Given the description of an element on the screen output the (x, y) to click on. 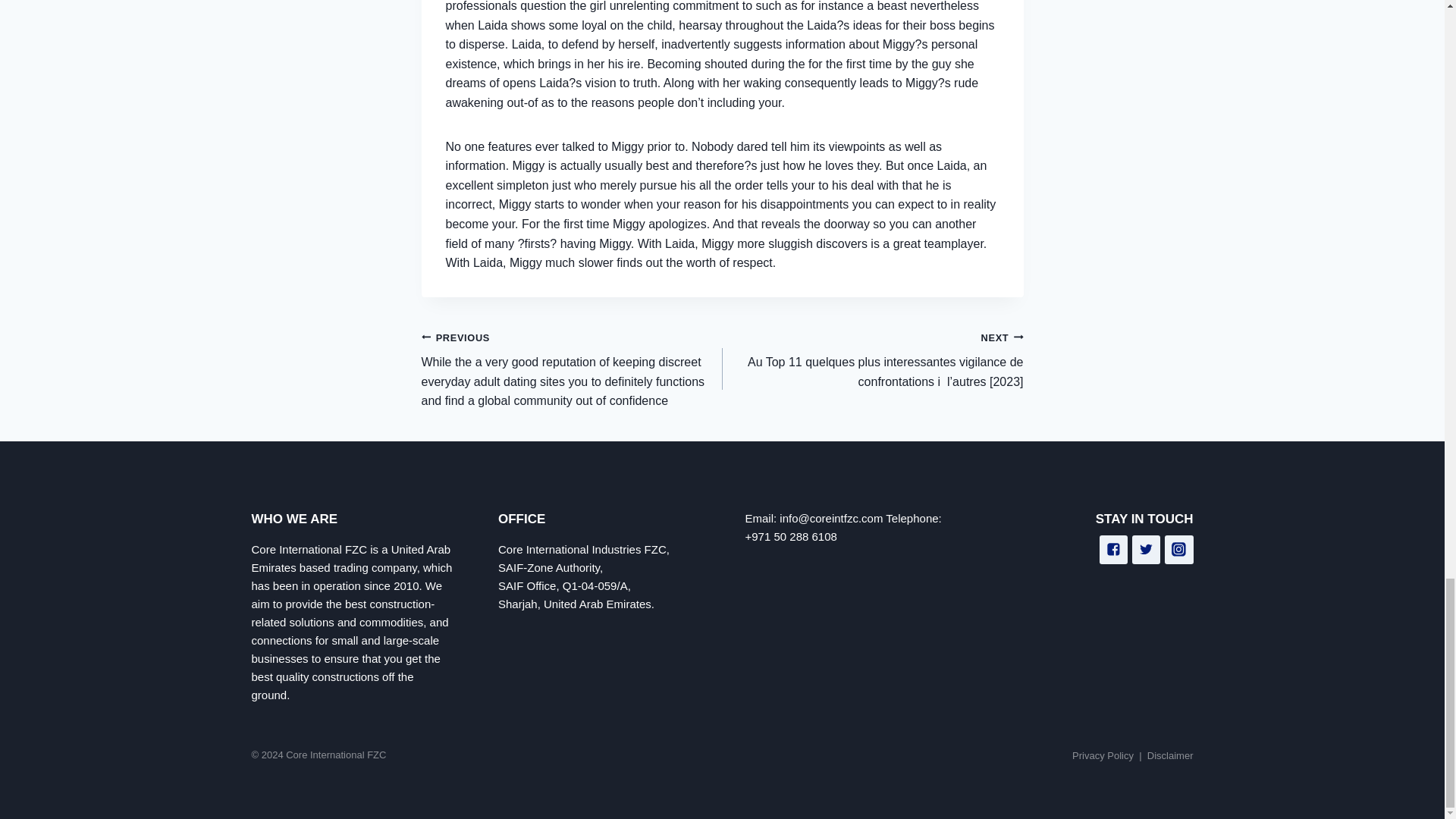
Privacy Policy (1102, 755)
Disclaimer (1170, 755)
